Given the description of an element on the screen output the (x, y) to click on. 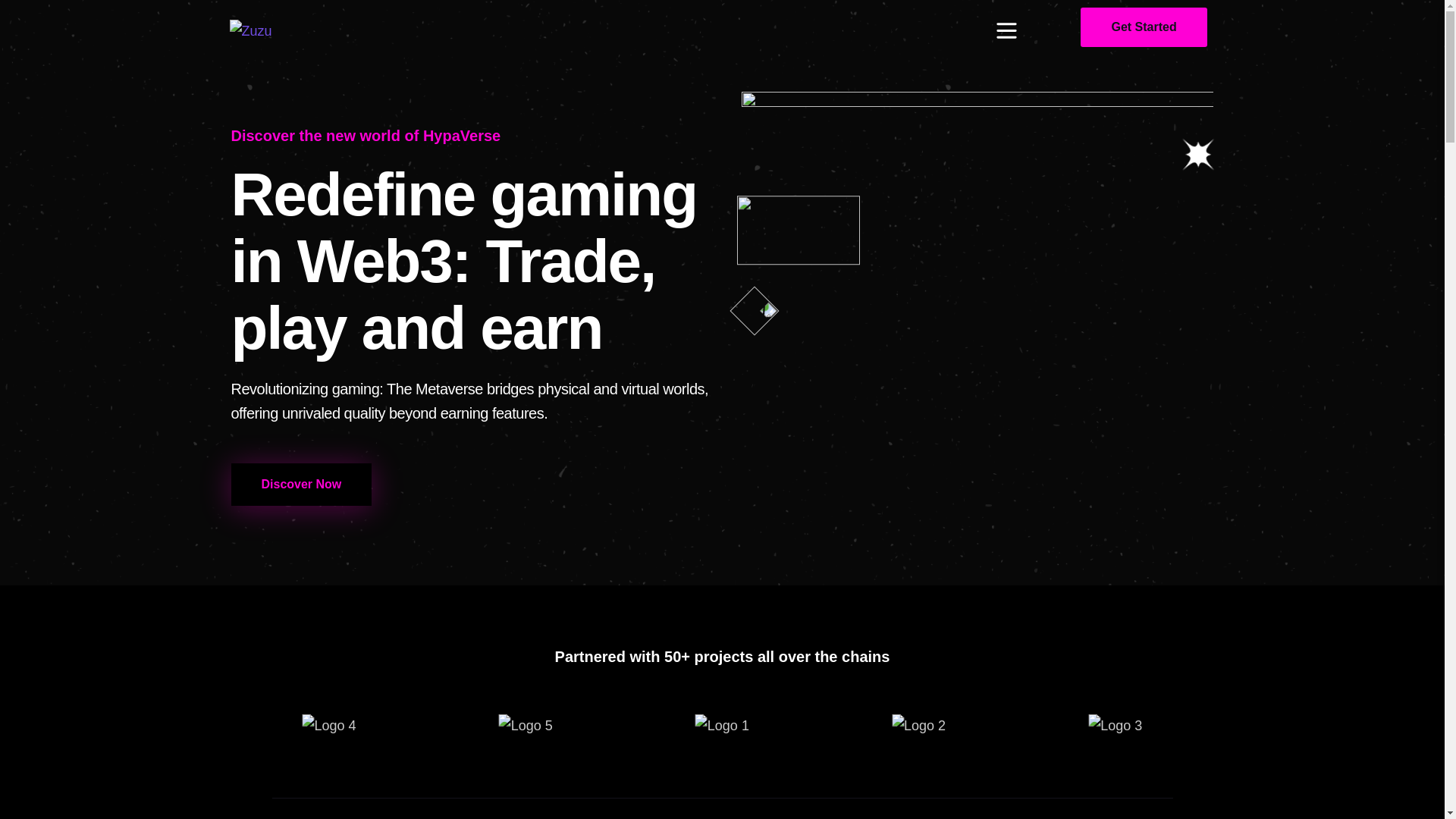
Discover Now (300, 484)
Get Started (1143, 26)
